Given the description of an element on the screen output the (x, y) to click on. 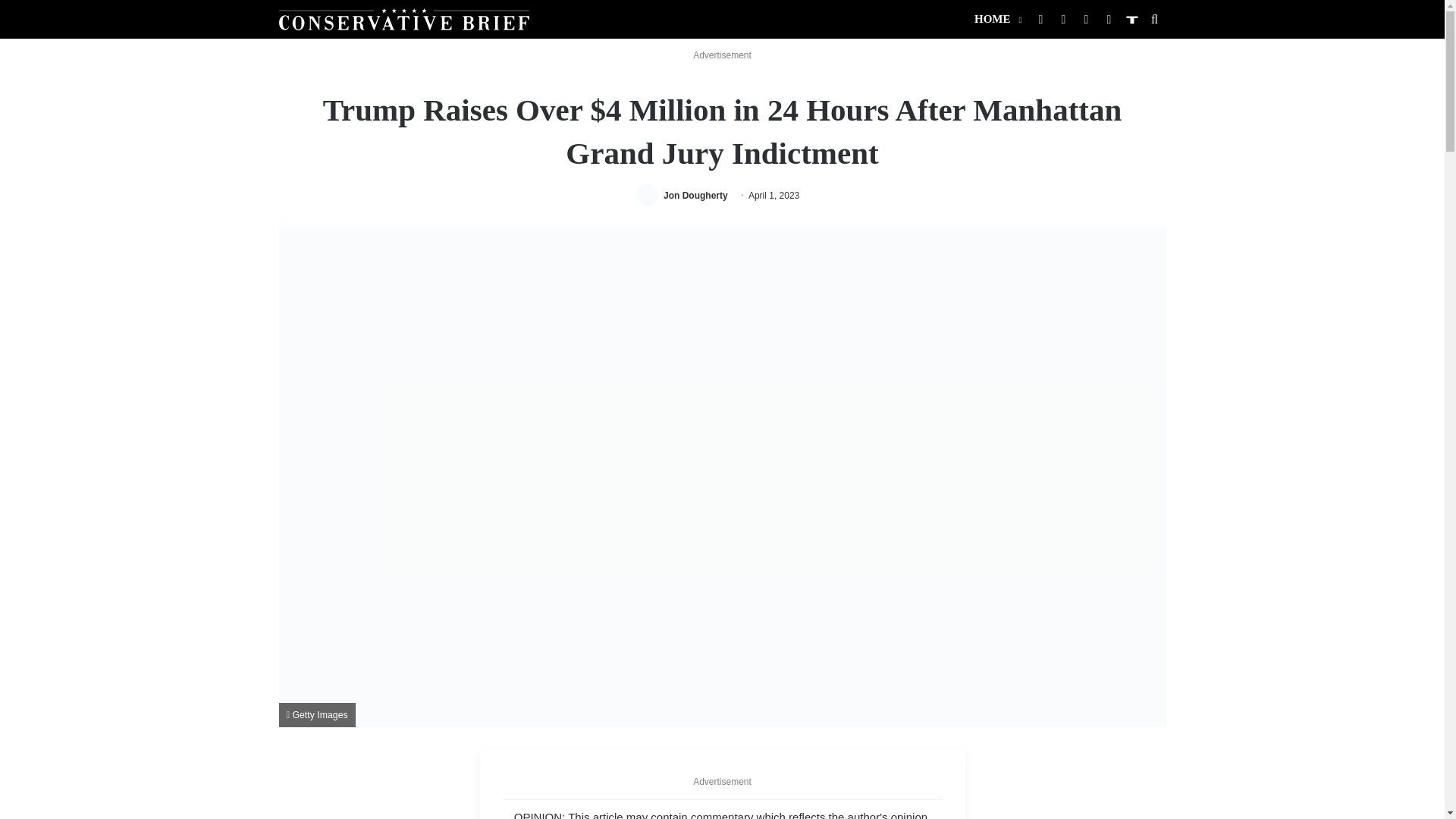
Conservative Brief (404, 19)
Jon Dougherty (695, 195)
HOME (996, 19)
Jon Dougherty (695, 195)
